Given the description of an element on the screen output the (x, y) to click on. 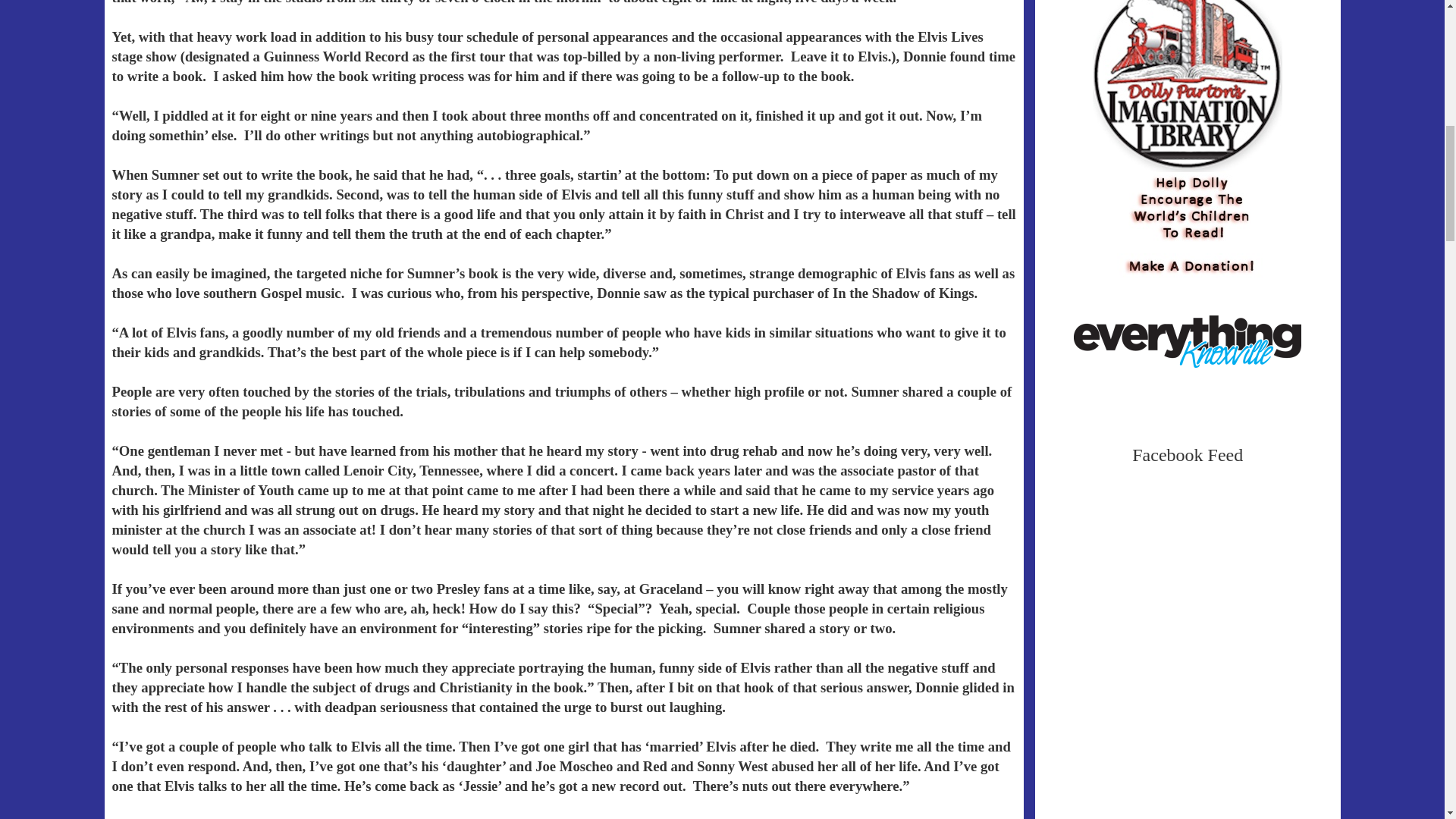
Imagination Library Right (1187, 124)
Everything Knoxville (1187, 339)
